Given the description of an element on the screen output the (x, y) to click on. 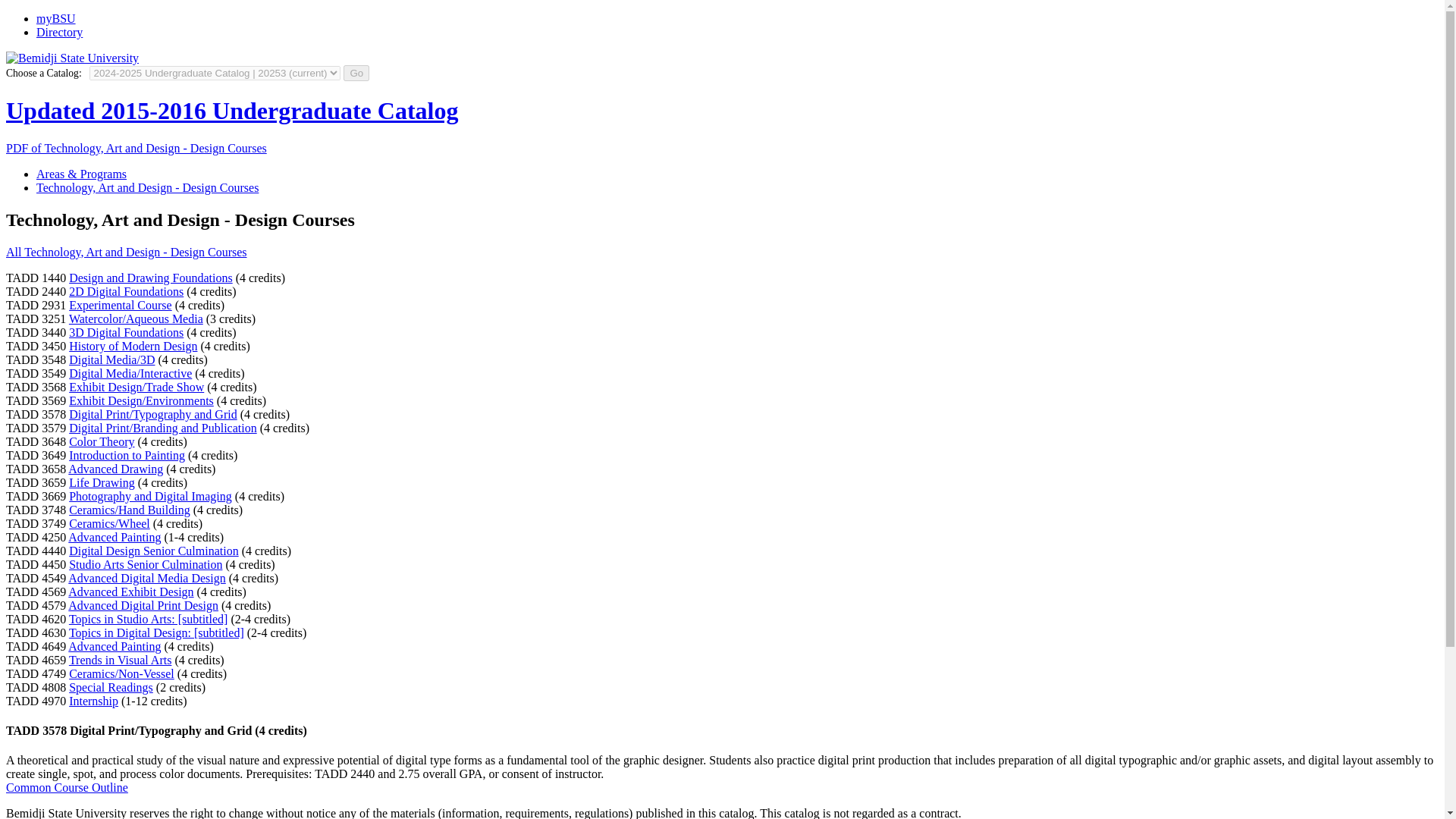
Updated 2015-2016 Undergraduate Catalog (231, 110)
Go (356, 73)
Technology, Art and Design - Design Courses (147, 187)
Advanced Exhibit Design (130, 591)
Directory (59, 31)
Design and Drawing Foundations (150, 277)
2D Digital Foundations (125, 291)
Advanced Drawing (115, 468)
Advanced Painting (114, 536)
Life Drawing (101, 481)
PDF of Technology, Art and Design - Design Courses (135, 147)
All Technology, Art and Design - Design Courses (126, 251)
Trends in Visual Arts (119, 659)
3D Digital Foundations (125, 332)
Advanced Painting (114, 645)
